Given the description of an element on the screen output the (x, y) to click on. 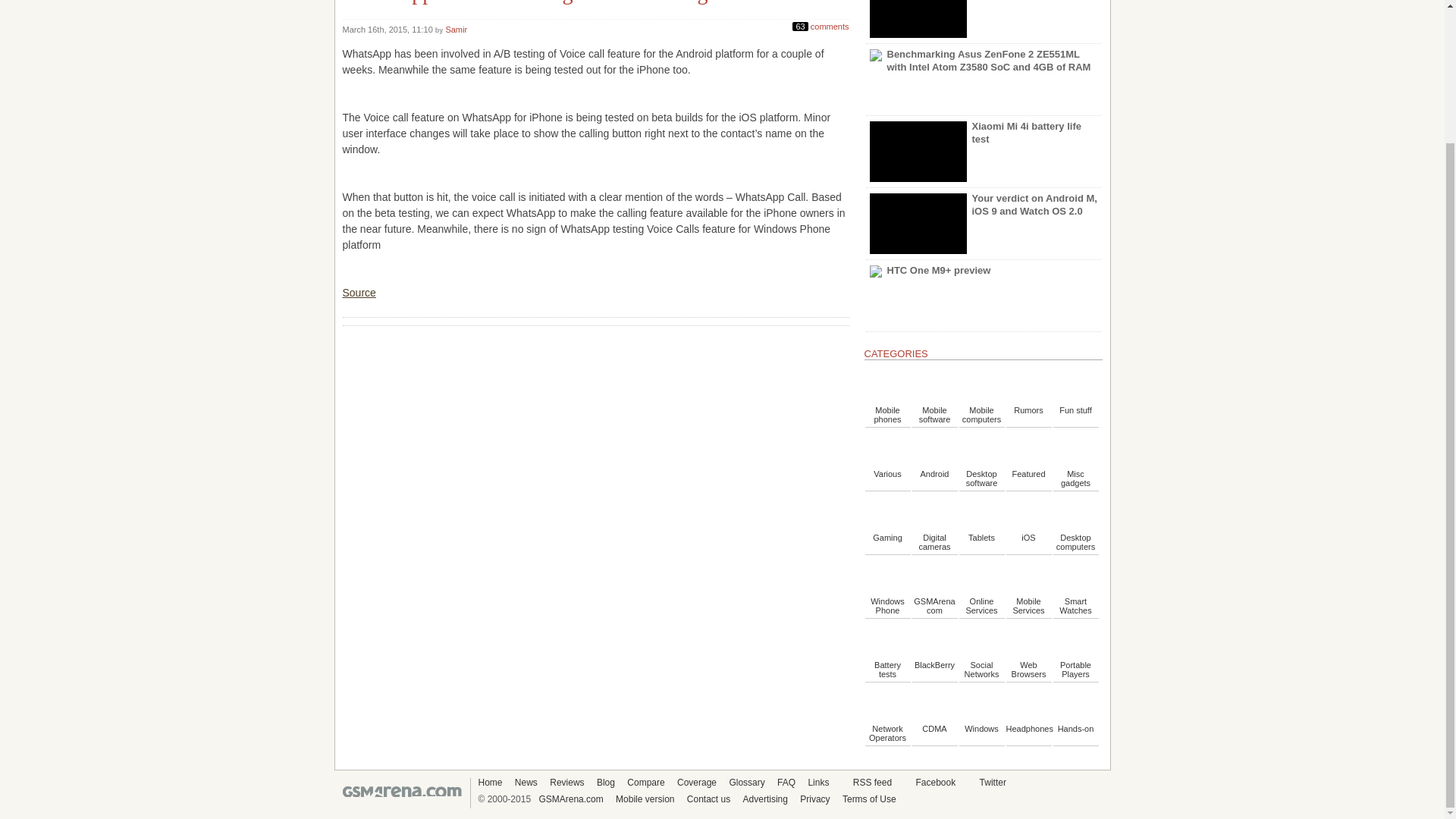
16 March 2015 11:10:32 AM (388, 29)
Your verdict on Android M, iOS 9 and Watch OS 2.0 (983, 223)
Lenovo A7000 Preview (972, 21)
Samir (456, 29)
Xiaomi Mi 4i battery life test (983, 151)
63 comments (820, 24)
Source (358, 300)
